Given the description of an element on the screen output the (x, y) to click on. 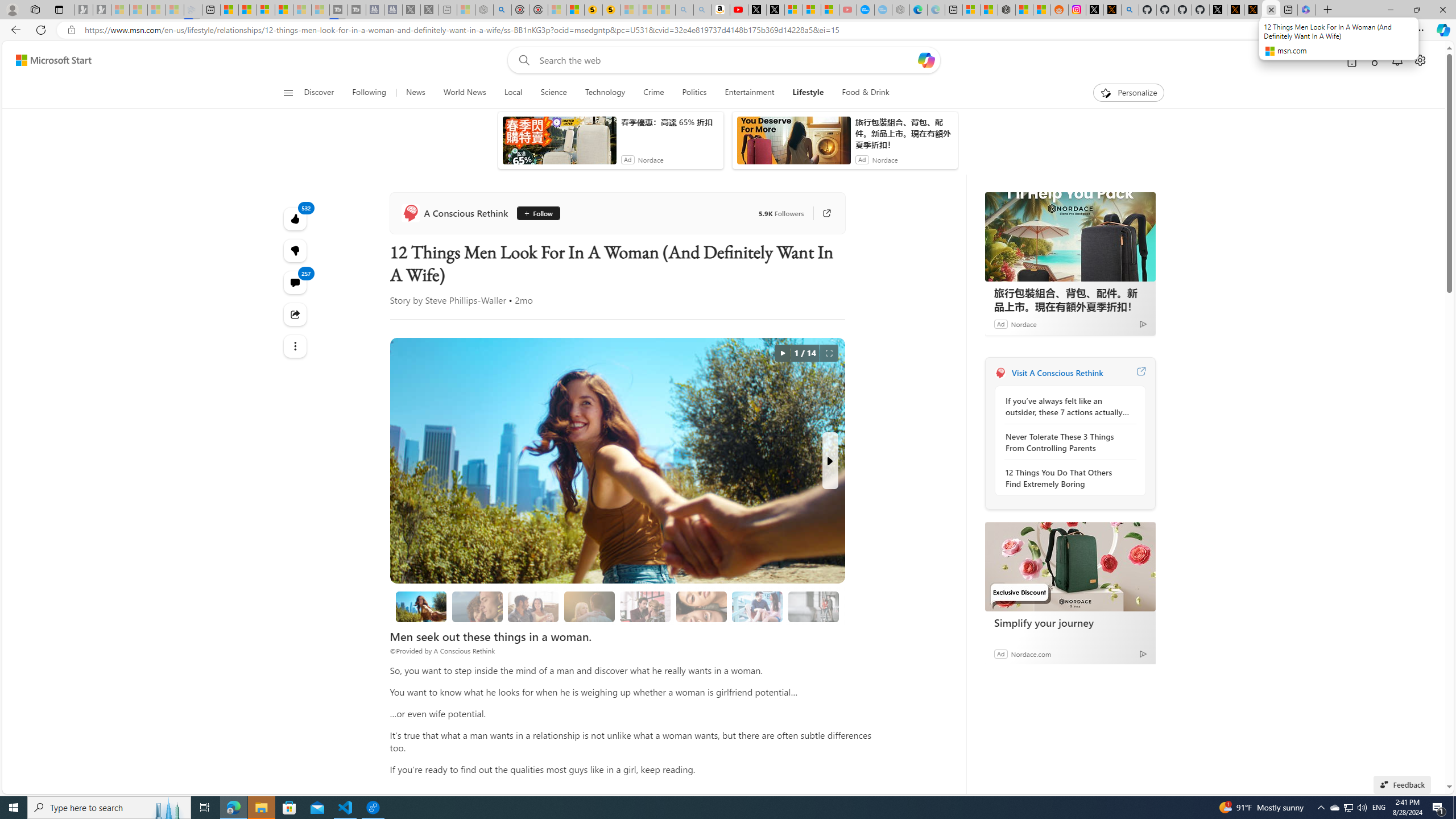
Microsoft Start - Sleeping (301, 9)
To get missing image descriptions, open the context menu. (1105, 92)
Simplify your journey (1070, 566)
Full screen (828, 352)
Men seek out these things in a woman. (421, 606)
Food & Drink (865, 92)
